Given the description of an element on the screen output the (x, y) to click on. 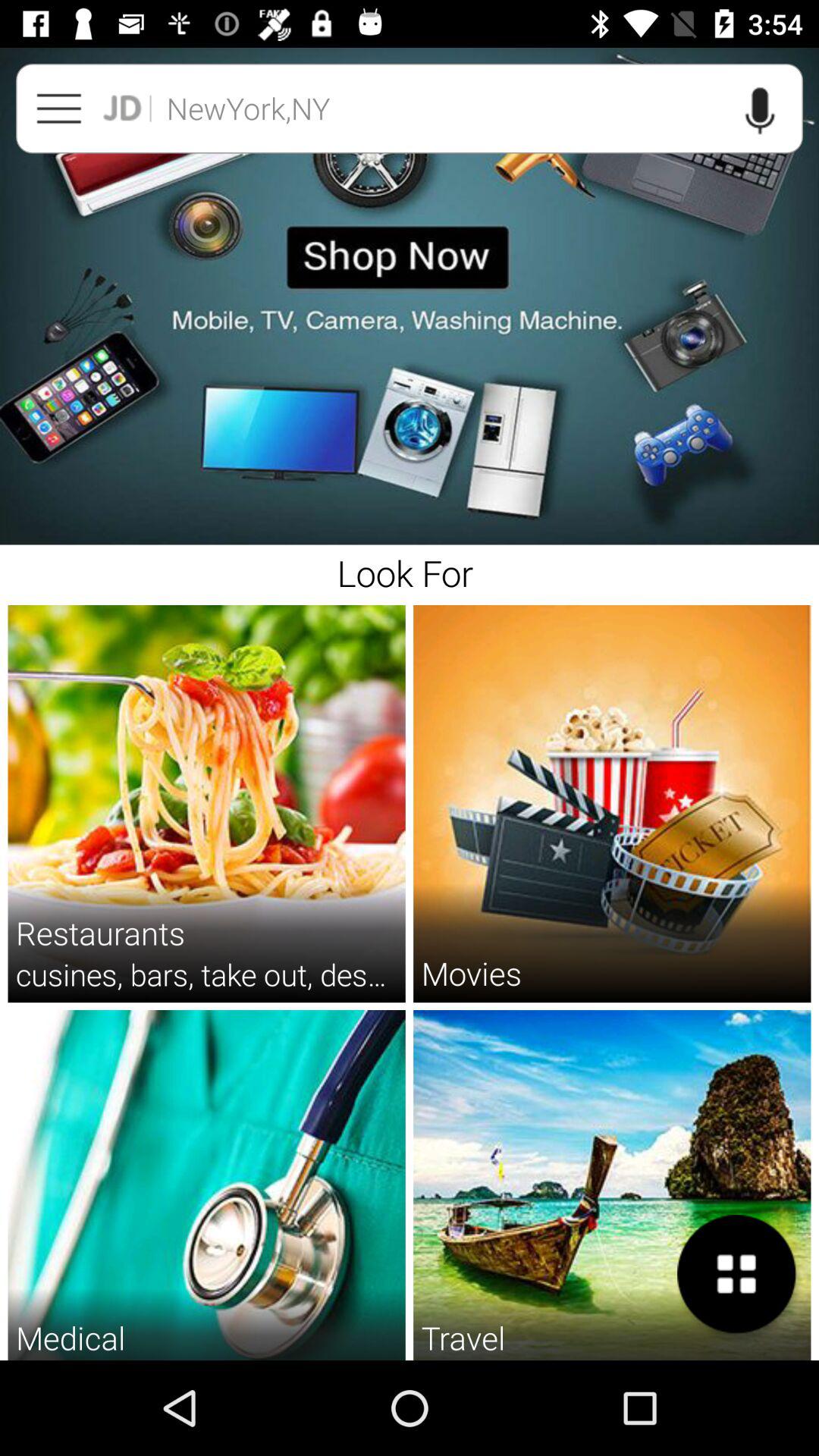
swipe to the look for  item (409, 570)
